Given the description of an element on the screen output the (x, y) to click on. 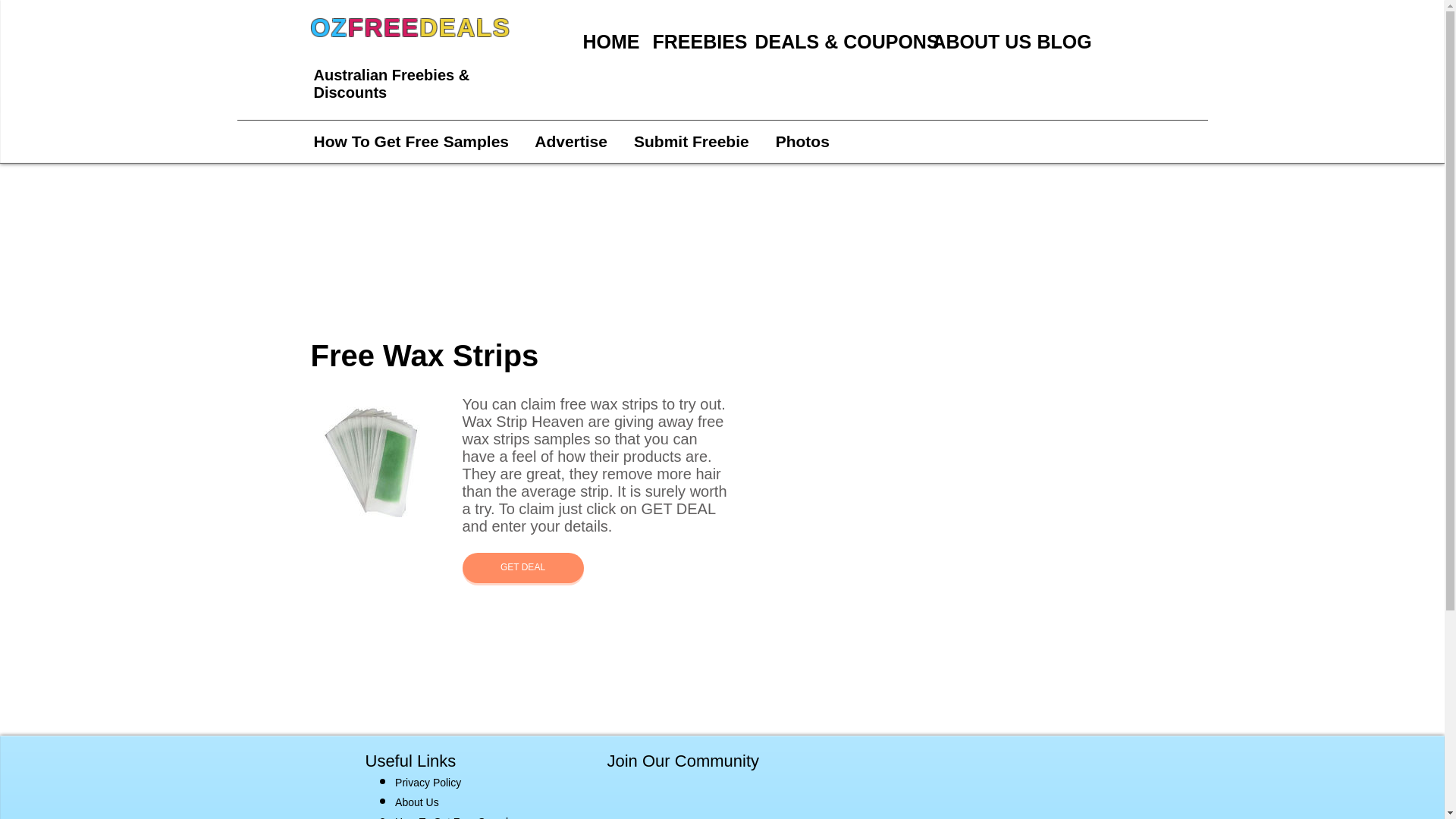
HOME (610, 41)
Twitter Follow (669, 805)
Privacy Policy (427, 779)
OZFREEDEALS (411, 27)
ABOUT US (976, 41)
BLOG (1061, 41)
About Us (416, 799)
Photos (802, 140)
How To Get Free Samples    (418, 140)
GET DEAL (523, 567)
